Given the description of an element on the screen output the (x, y) to click on. 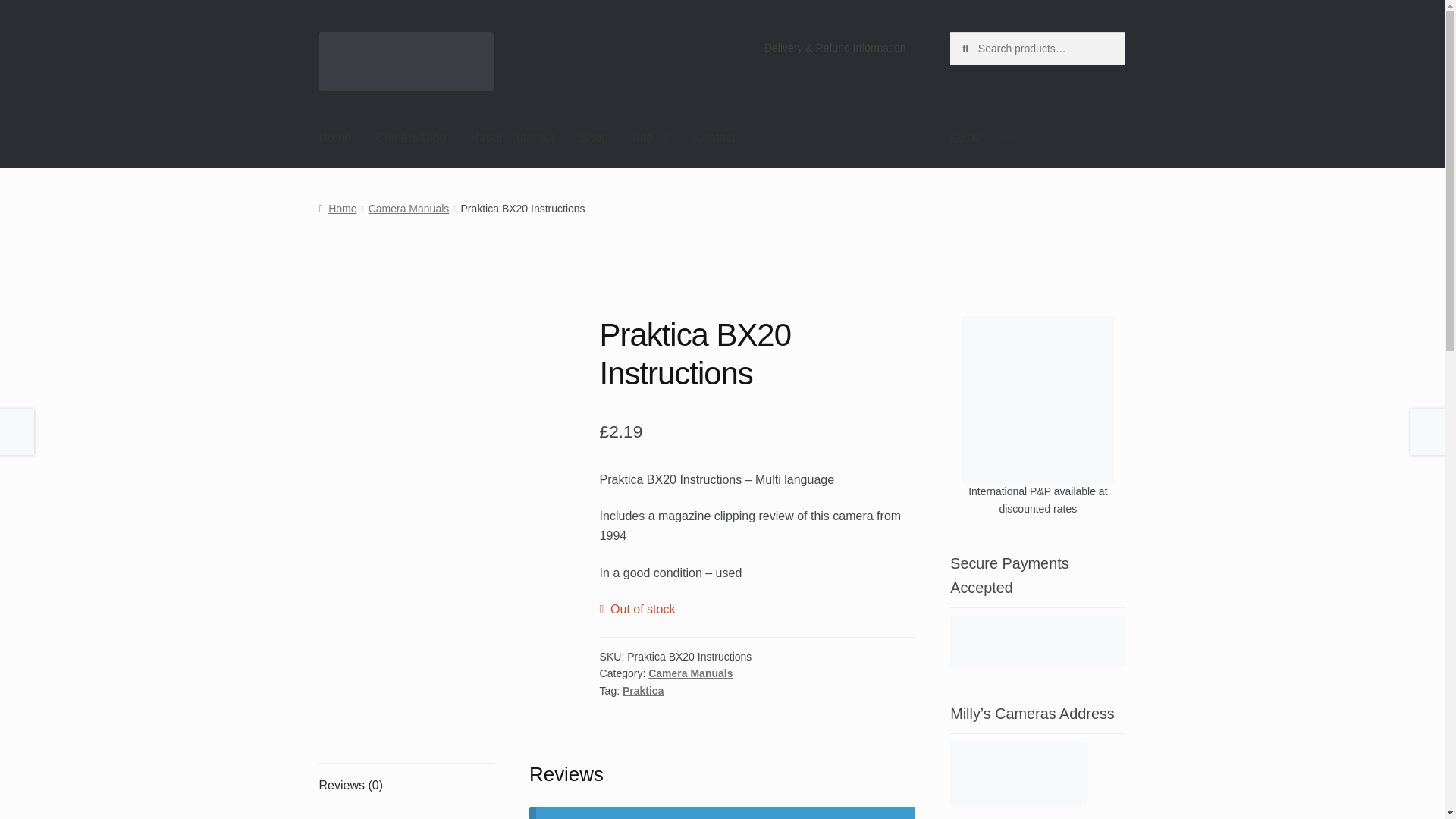
Contact (714, 137)
Repair Tutorials (512, 137)
Camera Blog (410, 137)
Camera Manuals (408, 208)
Home (335, 137)
Camera Manuals (689, 673)
Info (650, 137)
Praktica (643, 690)
View your shopping basket (1037, 137)
Home (337, 208)
